Given the description of an element on the screen output the (x, y) to click on. 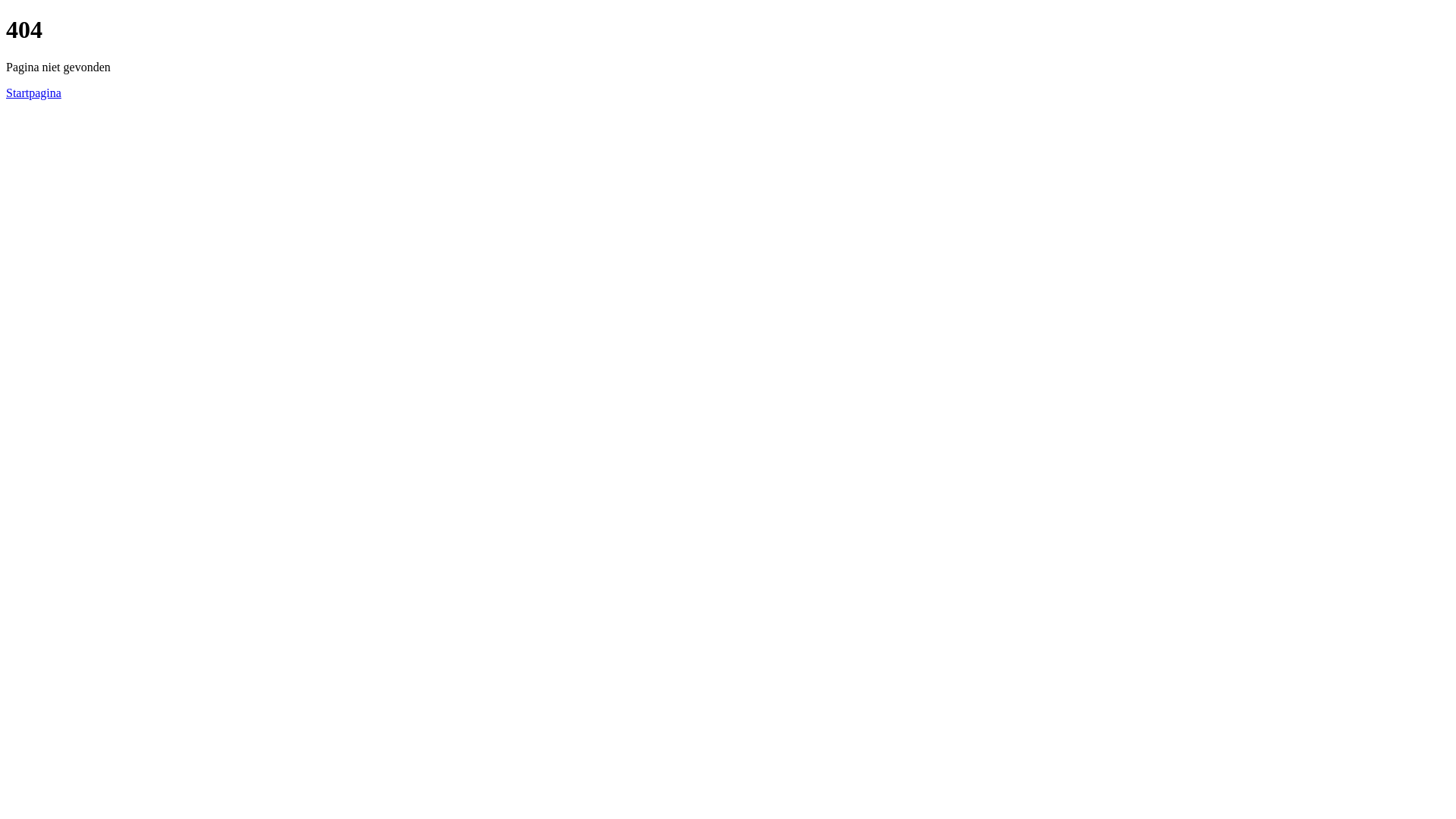
Startpagina Element type: text (33, 92)
